Given the description of an element on the screen output the (x, y) to click on. 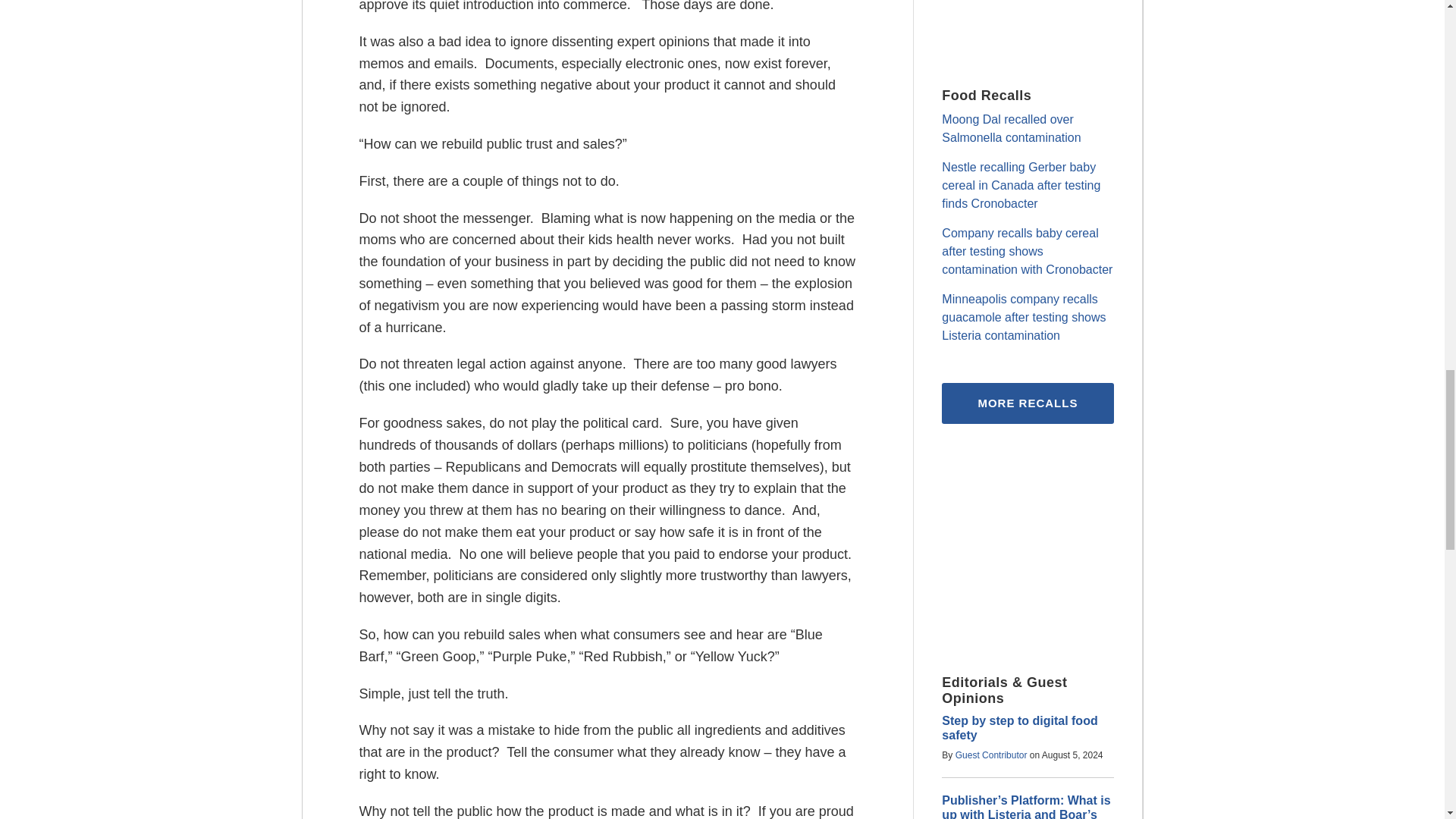
Moong Dal recalled over Salmonella contamination (1011, 128)
